Given the description of an element on the screen output the (x, y) to click on. 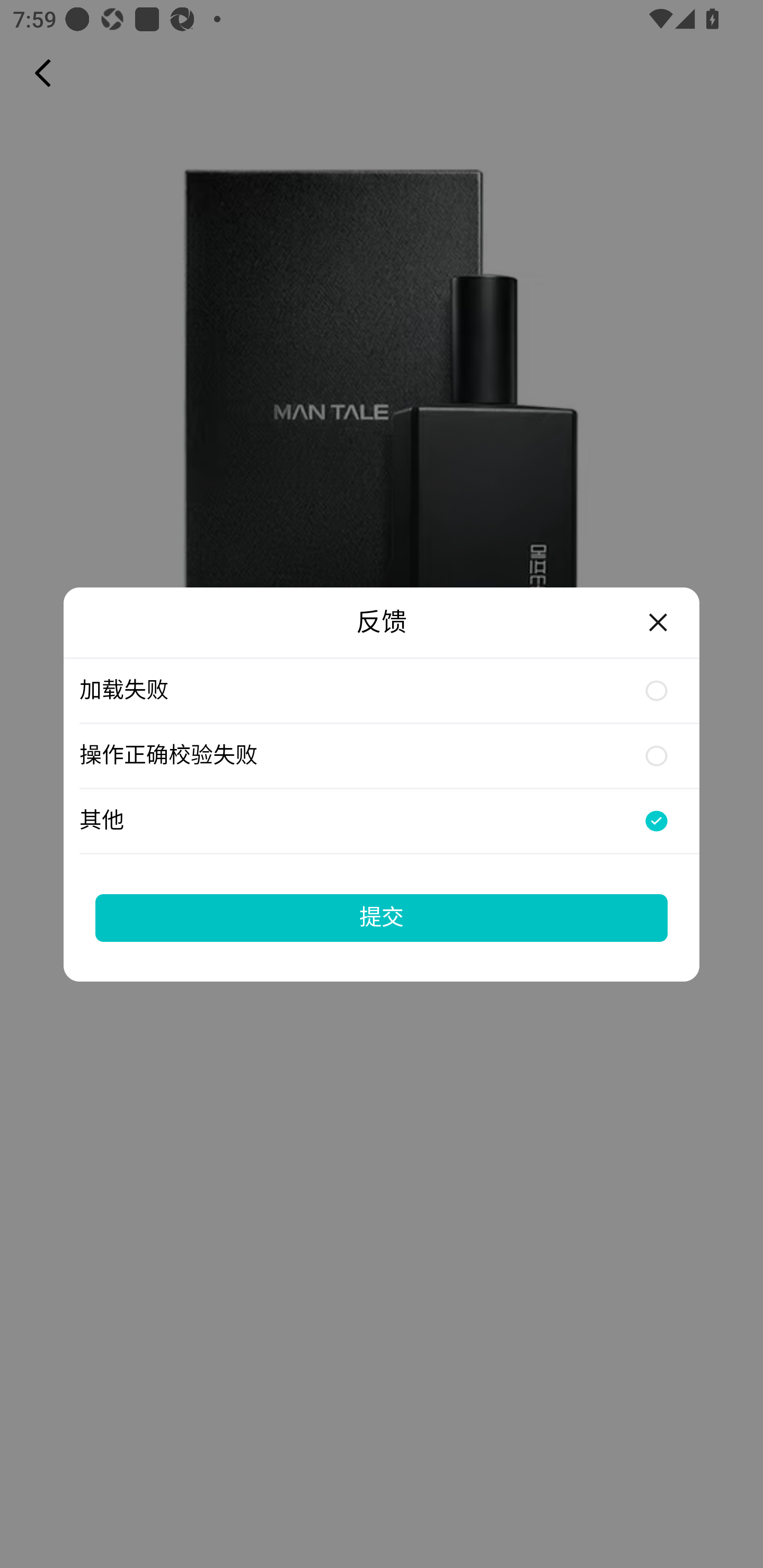
提交 (381, 917)
